Given the description of an element on the screen output the (x, y) to click on. 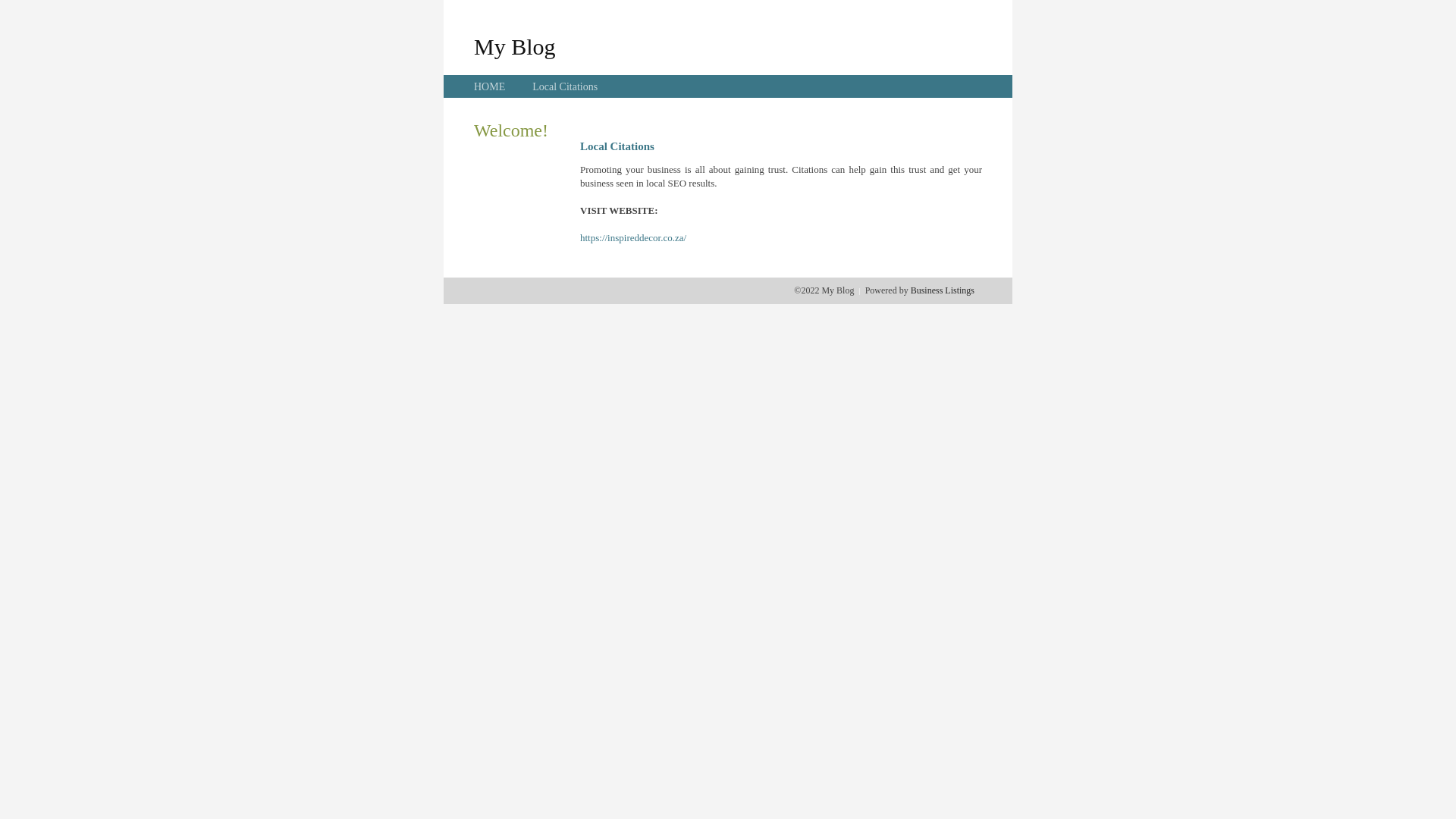
Business Listings Element type: text (942, 290)
HOME Element type: text (489, 86)
https://inspireddecor.co.za/ Element type: text (633, 237)
Local Citations Element type: text (564, 86)
My Blog Element type: text (514, 46)
